Given the description of an element on the screen output the (x, y) to click on. 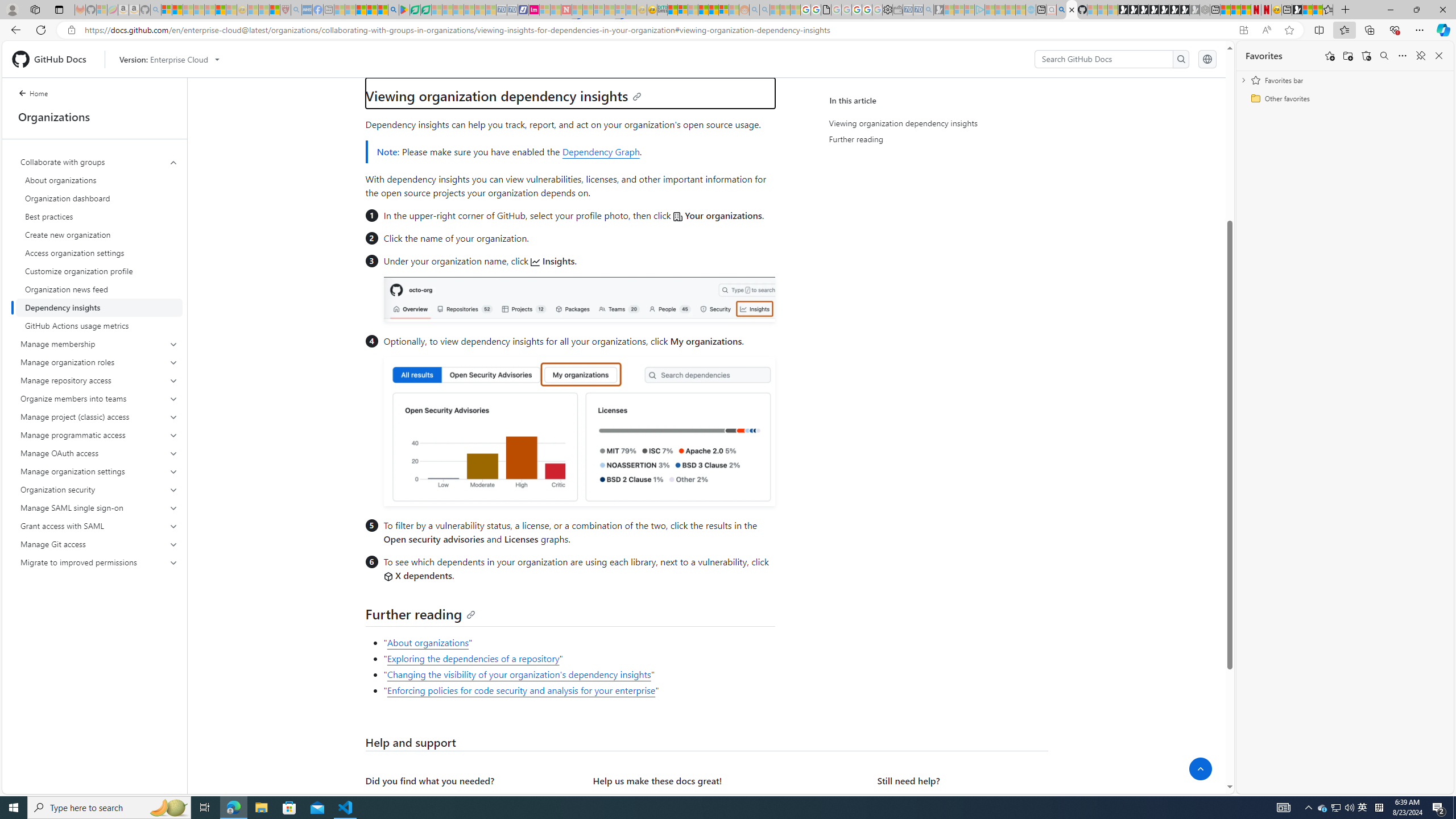
Grant access with SAML (99, 525)
Organization security (99, 489)
Access organization settings (99, 253)
Collaborate with groups (99, 243)
